Given the description of an element on the screen output the (x, y) to click on. 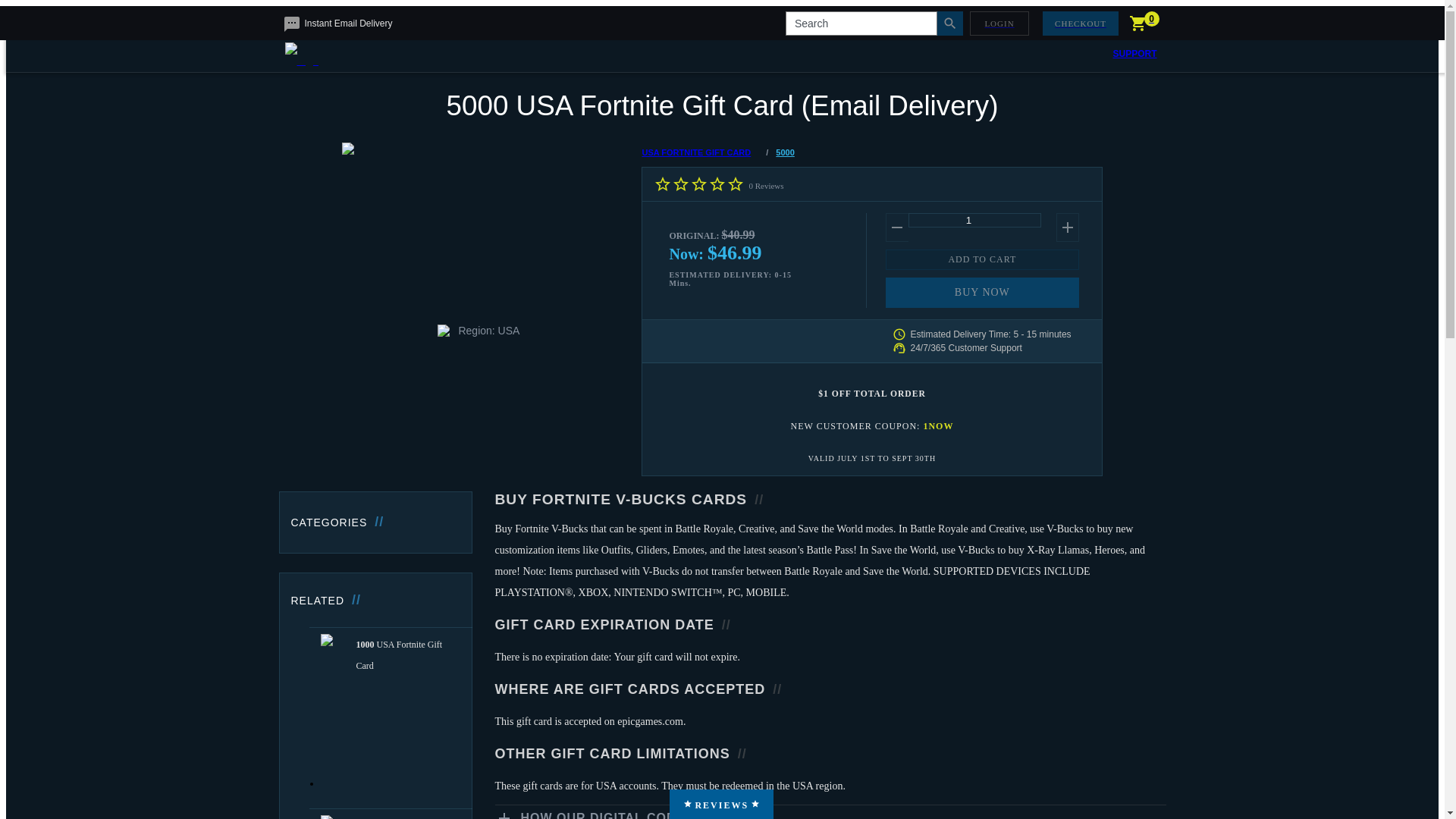
0 (1145, 22)
CHECKOUT (1080, 22)
BUY NOW (981, 292)
1 (974, 219)
HOW OUR DIGITAL CODES WORK? (632, 815)
LOGIN (998, 22)
ADD TO CART (981, 259)
LOGIN (1002, 22)
USA FORTNITE GIFT CARD (700, 152)
Search (861, 22)
